Given the description of an element on the screen output the (x, y) to click on. 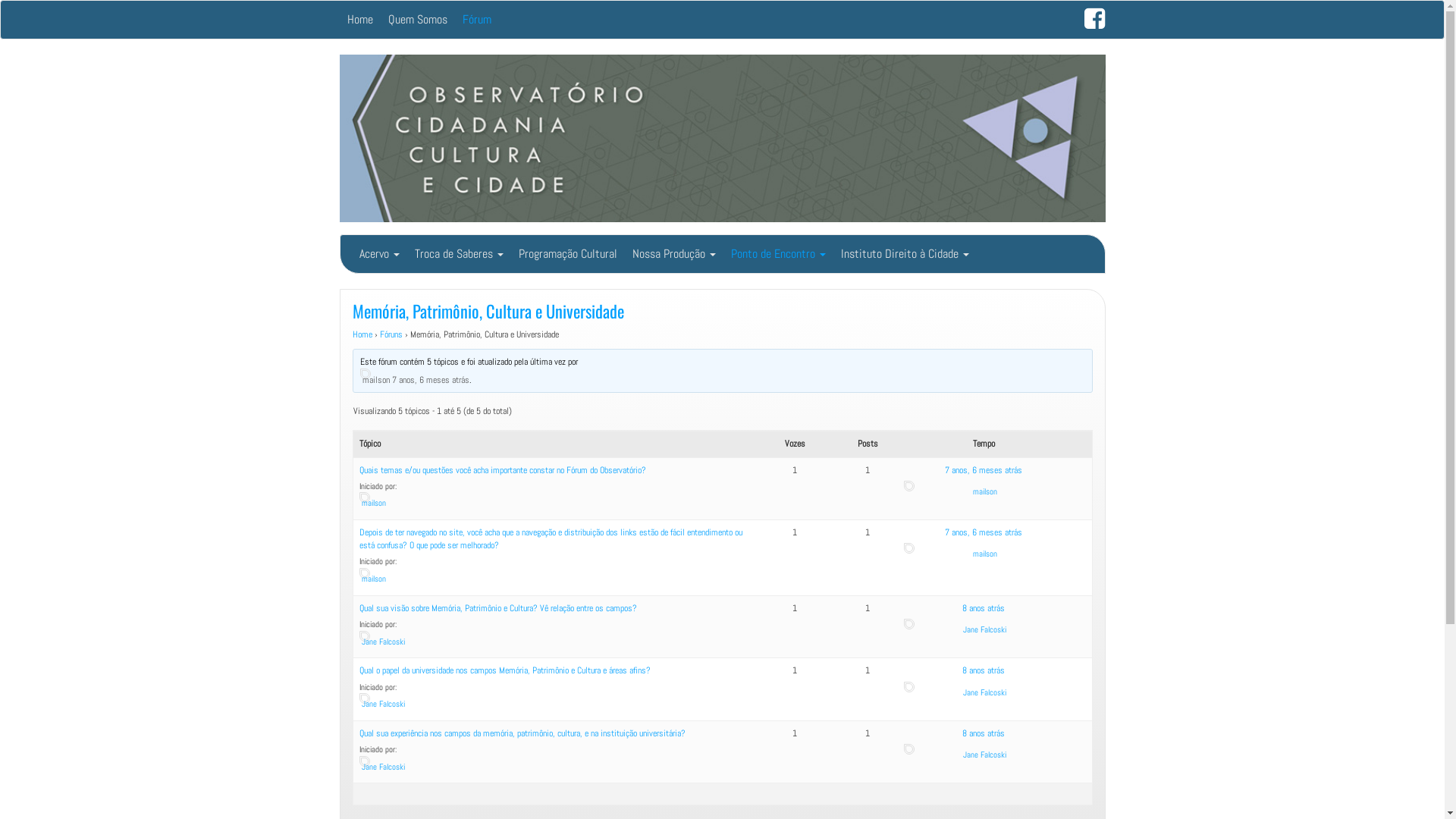
Home Element type: text (359, 19)
Troca de Saberes Element type: text (458, 254)
Ver perfil de Jane Falcoski Element type: hover (983, 626)
Ver perfil de mailson Element type: hover (559, 506)
Ponto de Encontro Element type: text (778, 254)
Ver perfil de mailson Element type: hover (983, 488)
Ver perfil de Jane Falcoski Element type: hover (559, 644)
Jane Falcoski Element type: text (382, 703)
mailson Element type: text (984, 491)
Ver perfil de Jane Falcoski Element type: hover (559, 707)
mailson Element type: text (984, 553)
Ver perfil de mailson Element type: hover (983, 550)
mailson Element type: text (375, 379)
Ver perfil de Jane Falcoski Element type: hover (983, 751)
Acervo Element type: text (379, 254)
Quem Somos Element type: text (417, 19)
Ver perfil de mailson Element type: hover (722, 383)
Jane Falcoski Element type: text (984, 692)
Jane Falcoski Element type: text (382, 641)
mailson Element type: text (372, 578)
Home Element type: text (361, 334)
Ver perfil de mailson Element type: hover (559, 581)
Jane Falcoski Element type: text (984, 754)
Ver perfil de Jane Falcoski Element type: hover (559, 770)
Jane Falcoski Element type: text (984, 629)
mailson Element type: text (372, 502)
Jane Falcoski Element type: text (382, 766)
Ver perfil de Jane Falcoski Element type: hover (983, 689)
